Given the description of an element on the screen output the (x, y) to click on. 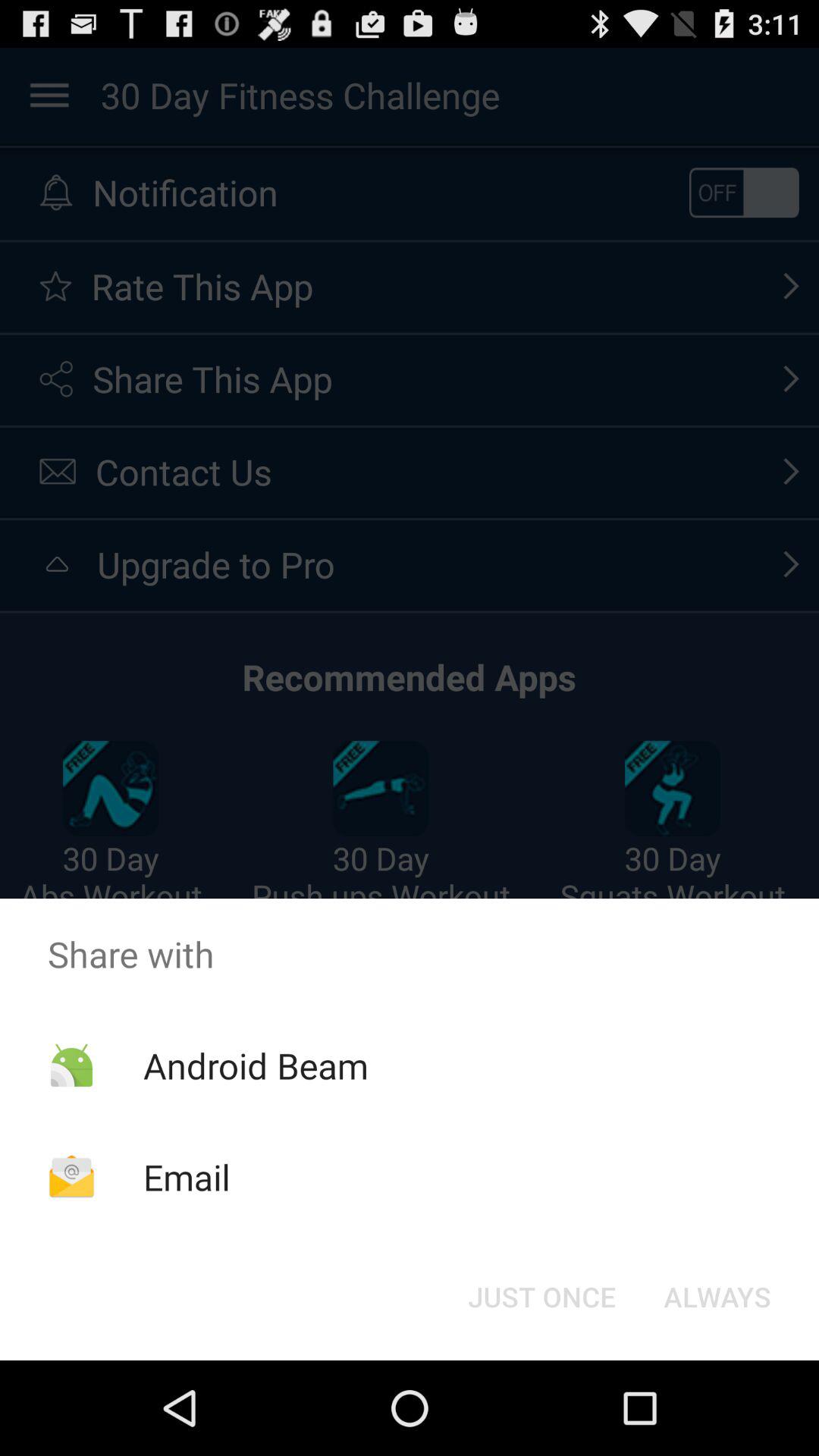
press item below the share with app (717, 1296)
